Given the description of an element on the screen output the (x, y) to click on. 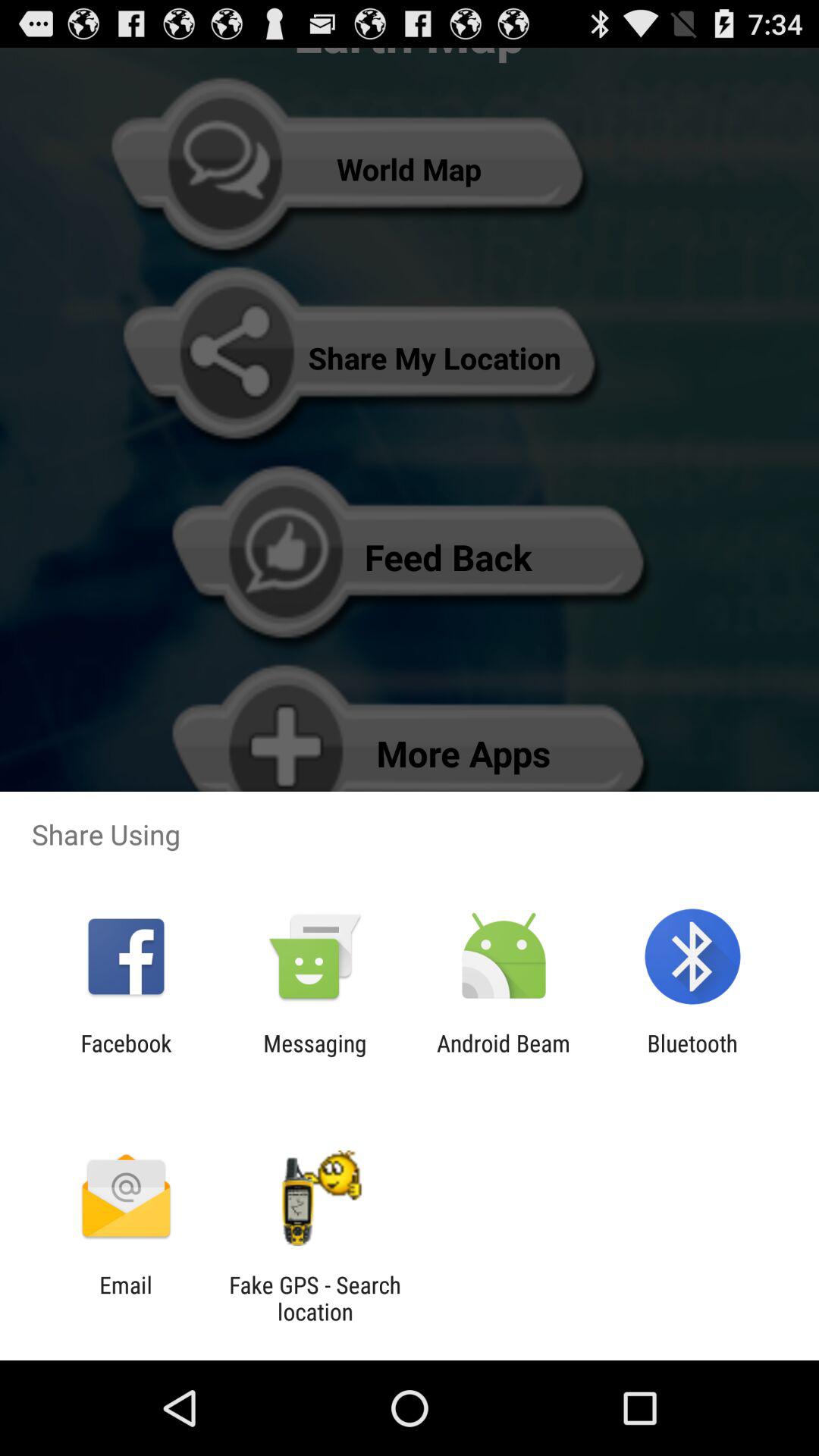
turn on fake gps search app (314, 1298)
